Given the description of an element on the screen output the (x, y) to click on. 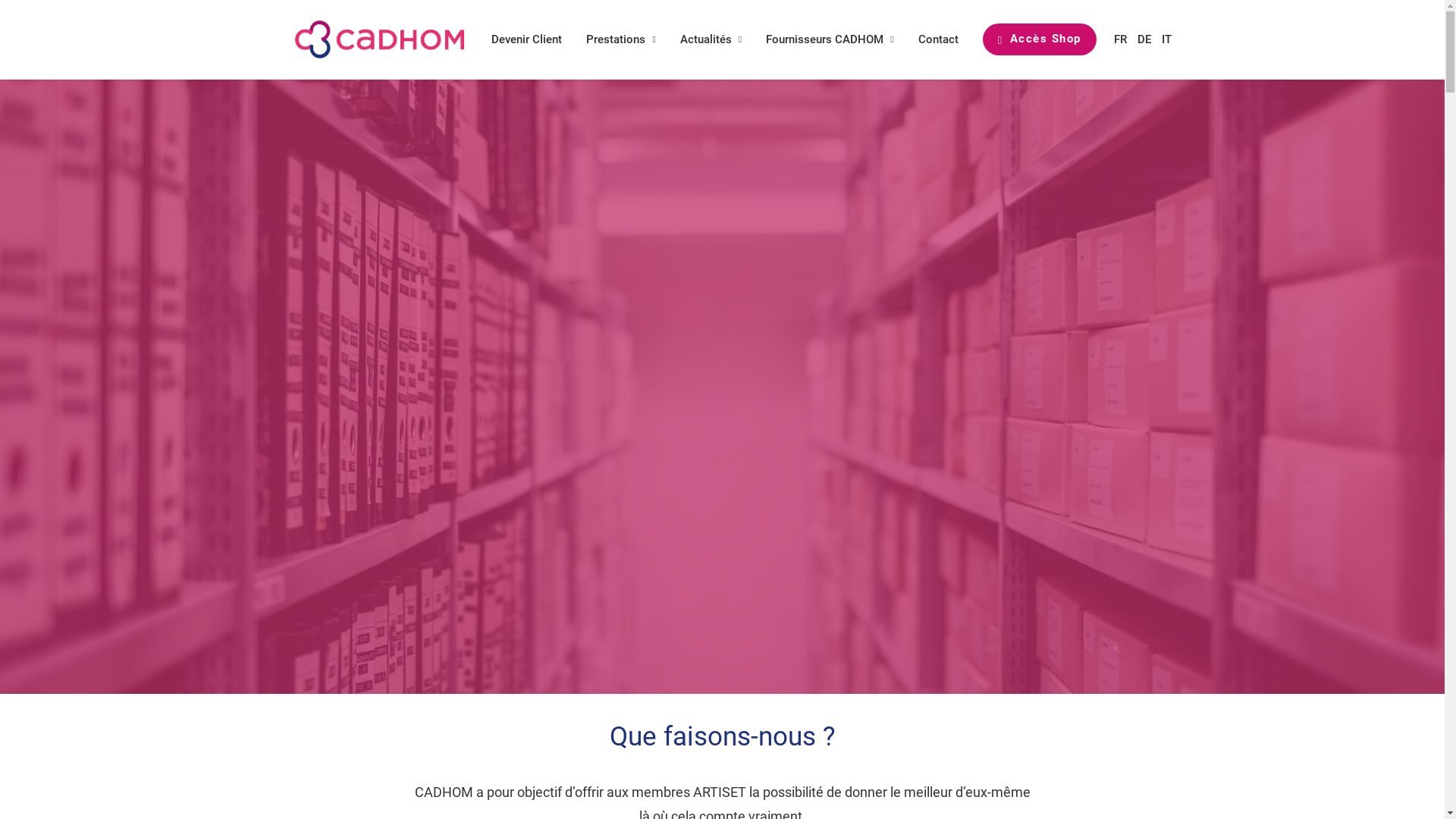
Contact Element type: text (938, 39)
FR Element type: text (1120, 39)
Devenir Client Element type: text (531, 39)
Prestations Element type: text (620, 39)
DE Element type: text (1143, 39)
Fournisseurs CADHOM Element type: text (829, 39)
IT Element type: text (1164, 39)
